Given the description of an element on the screen output the (x, y) to click on. 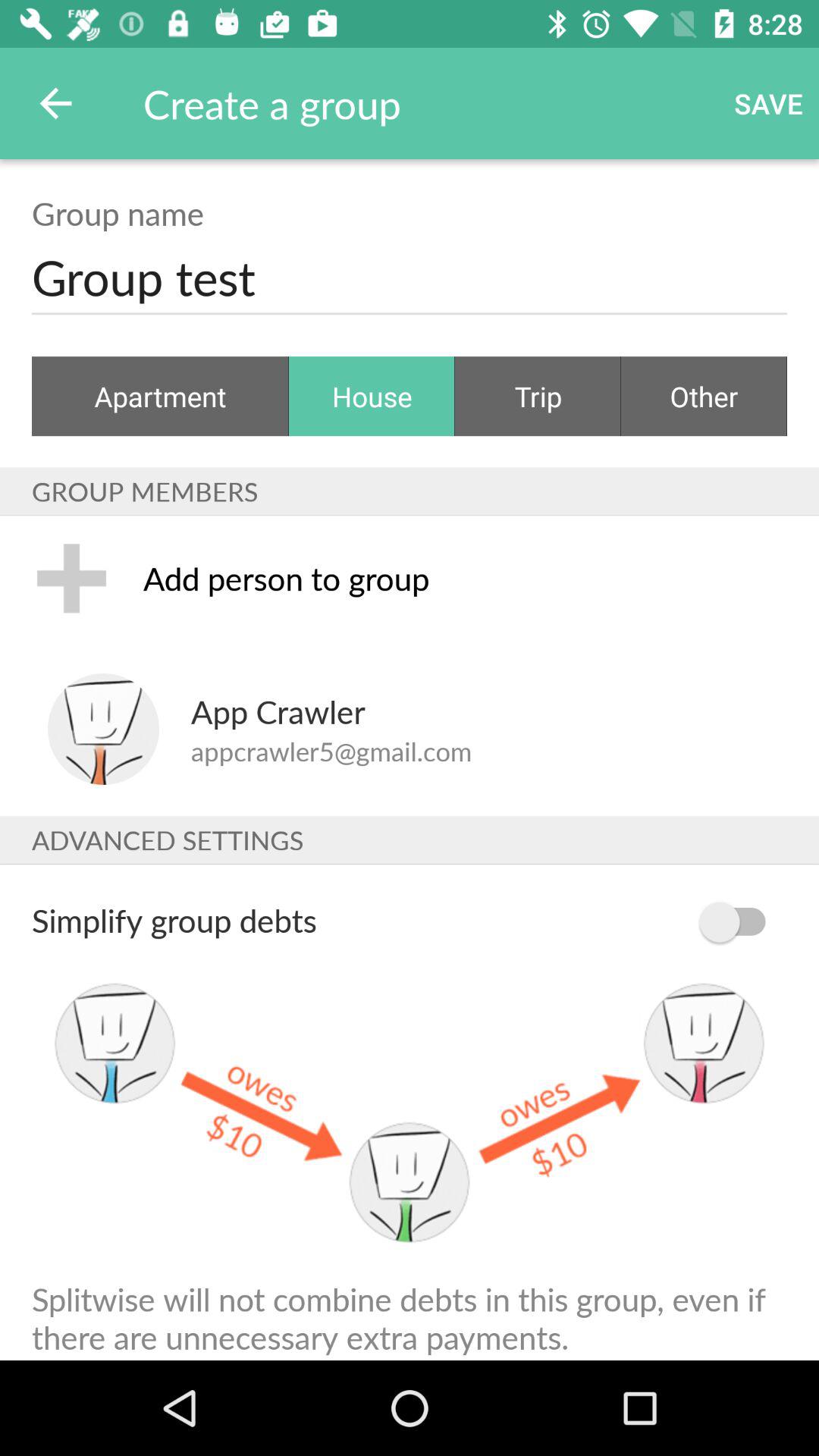
choose the icon next to add person to icon (71, 578)
